Given the description of an element on the screen output the (x, y) to click on. 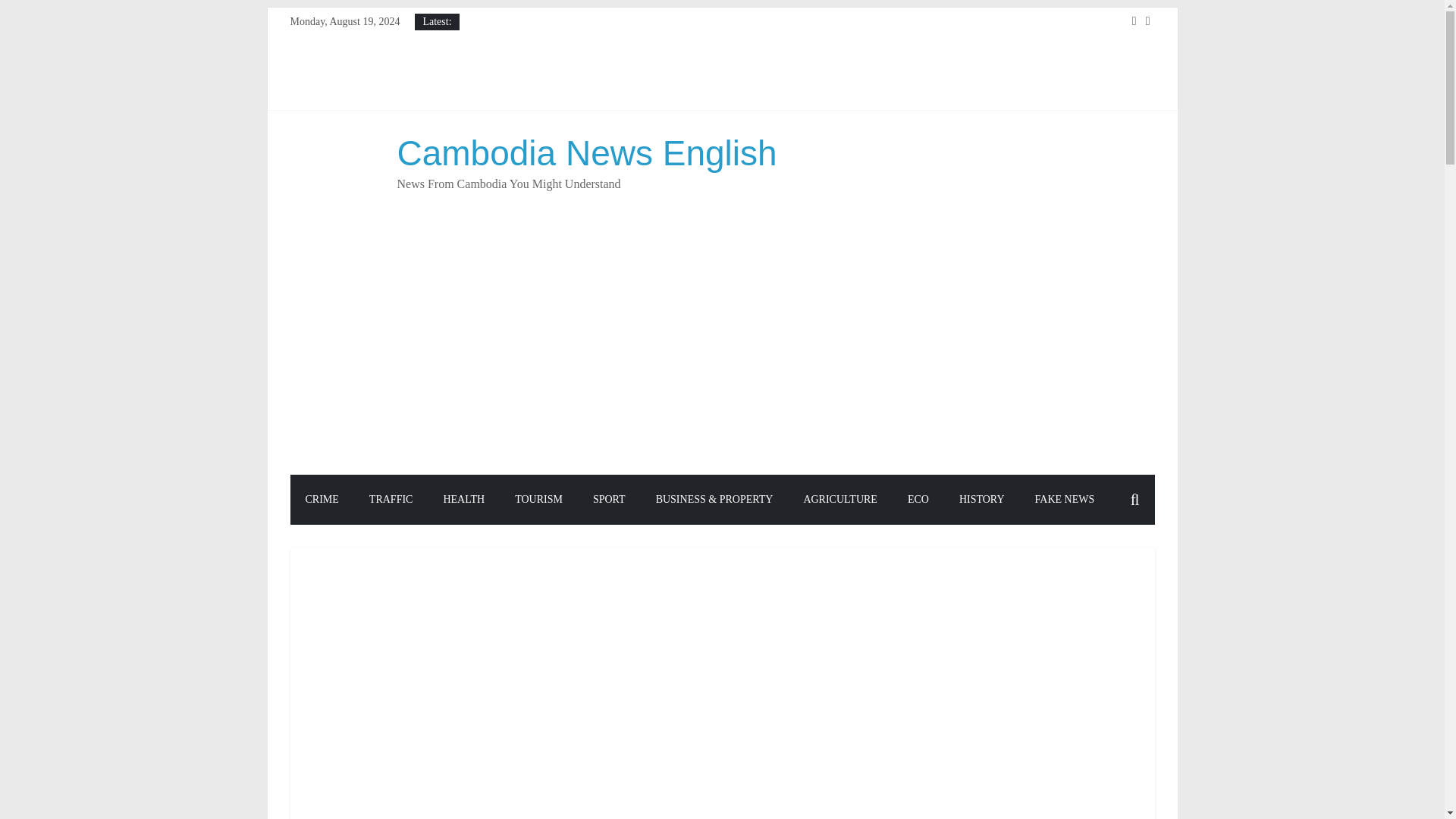
FAKE NEWS (1064, 499)
Cambodia News English (587, 152)
Cambodia News English (587, 152)
CRIME (321, 499)
TOURISM (538, 499)
ECO (917, 499)
TRAFFIC (390, 499)
SPORT (609, 499)
HEALTH (463, 499)
